Given the description of an element on the screen output the (x, y) to click on. 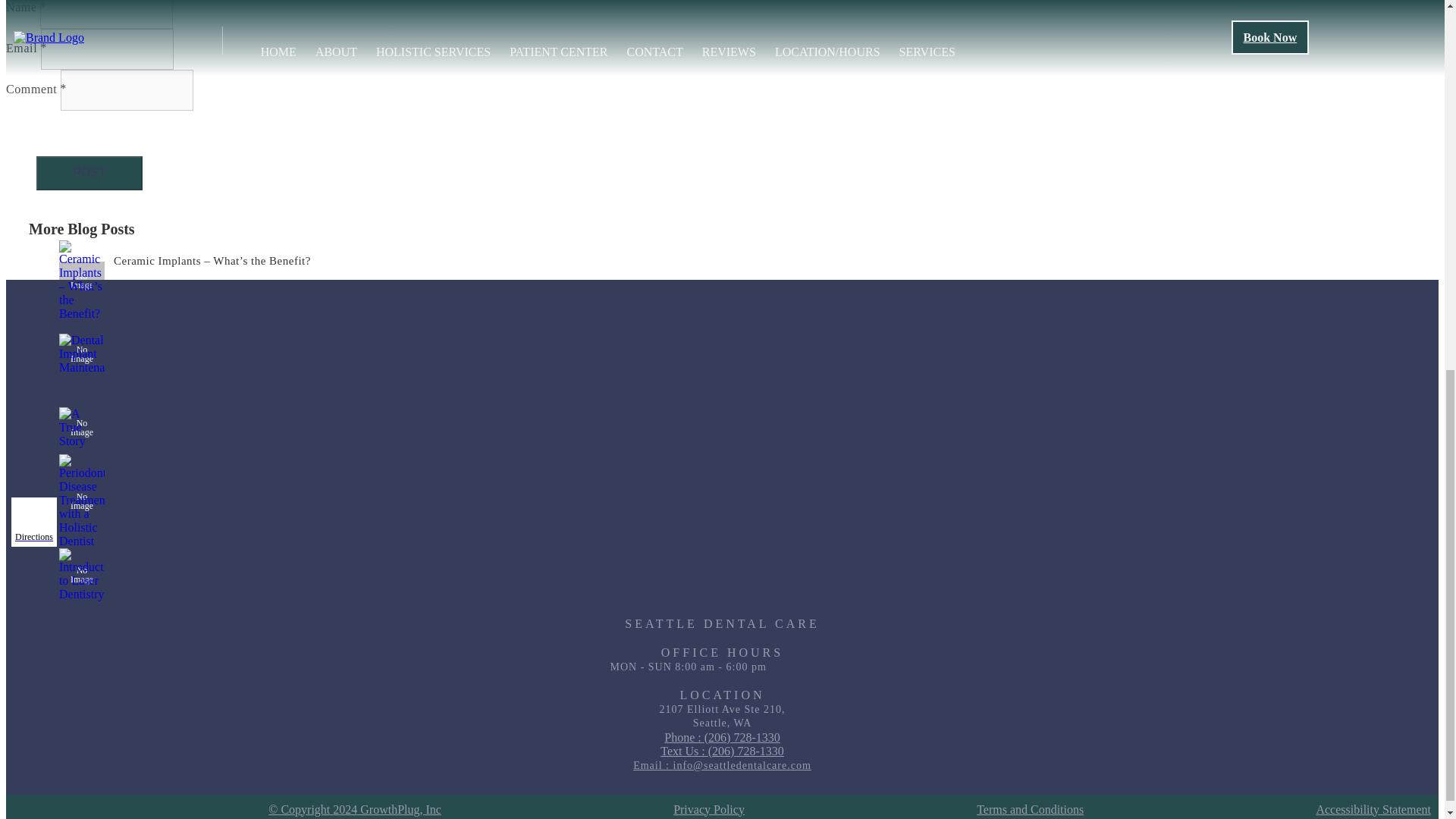
Dental Implant Maintenance (81, 353)
A True Story (81, 427)
